Given the description of an element on the screen output the (x, y) to click on. 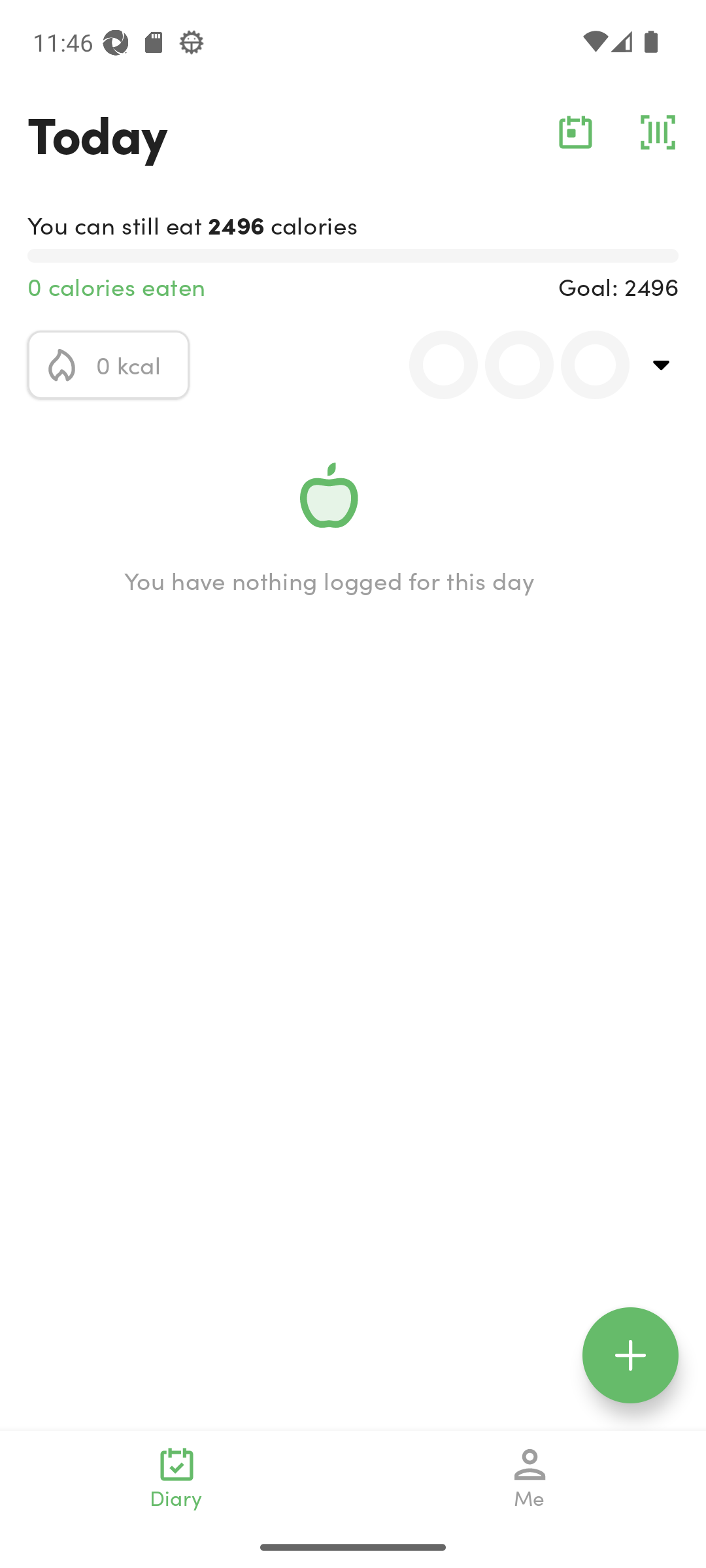
calendar_action (575, 132)
barcode_action (658, 132)
calorie_icon 0 kcal (108, 365)
0.0 0.0 0.0 (508, 365)
top_right_action (661, 365)
floating_action_icon (630, 1355)
Me navigation_icon (529, 1478)
